Given the description of an element on the screen output the (x, y) to click on. 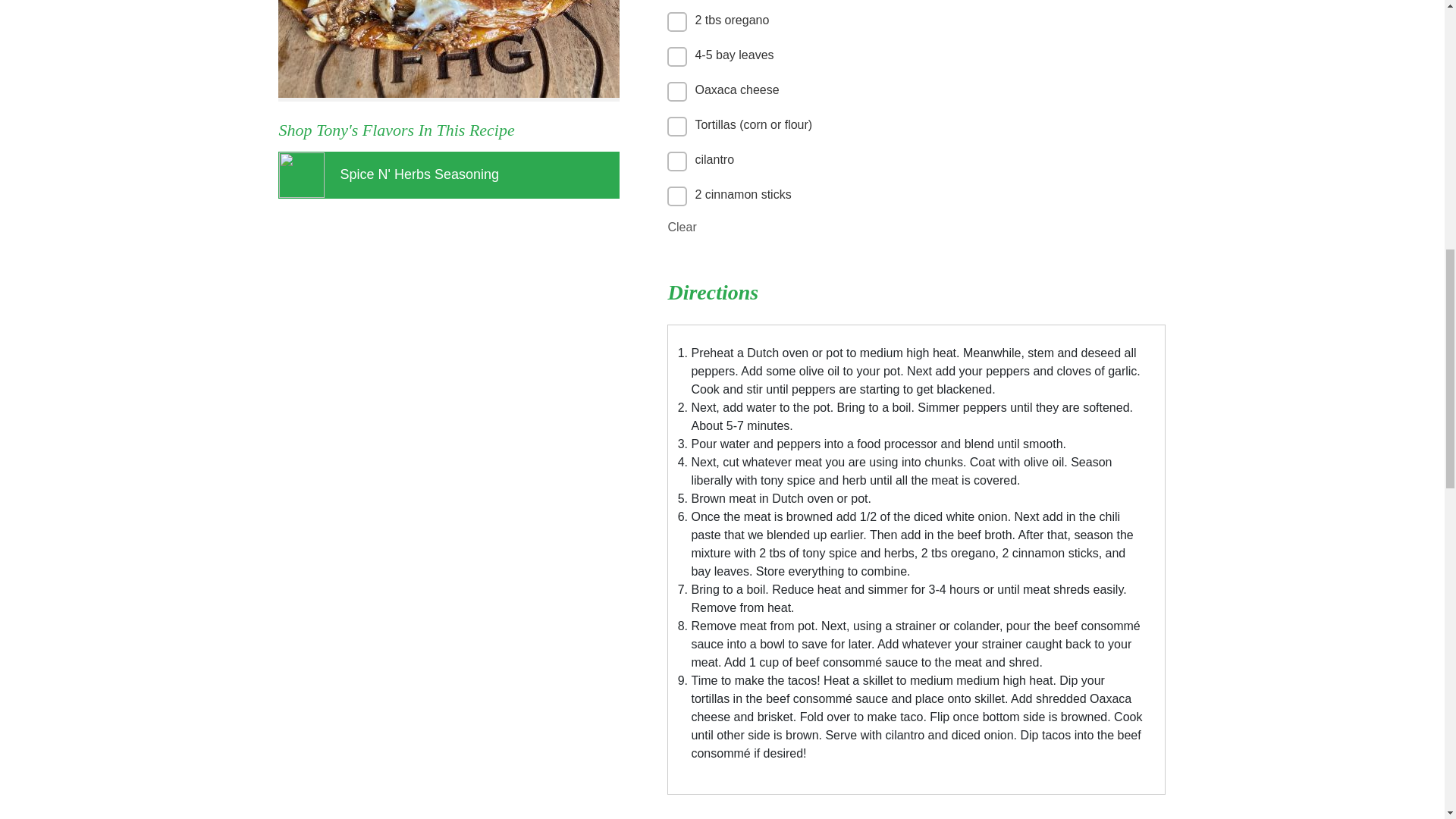
Spice N' Herbs Seasoning (449, 175)
Clear (680, 227)
